Given the description of an element on the screen output the (x, y) to click on. 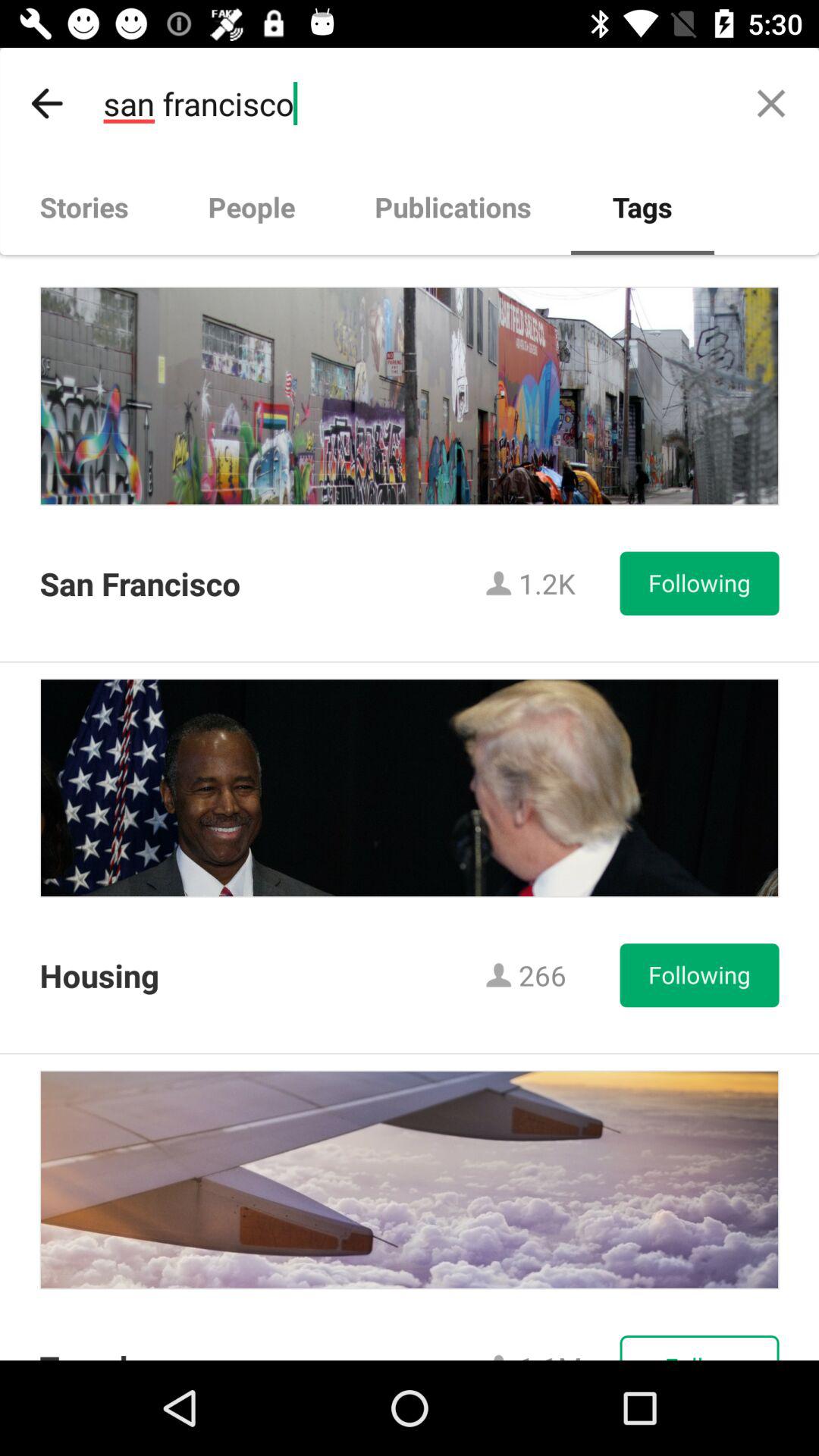
tap the item to the right of san francisco item (771, 103)
